Given the description of an element on the screen output the (x, y) to click on. 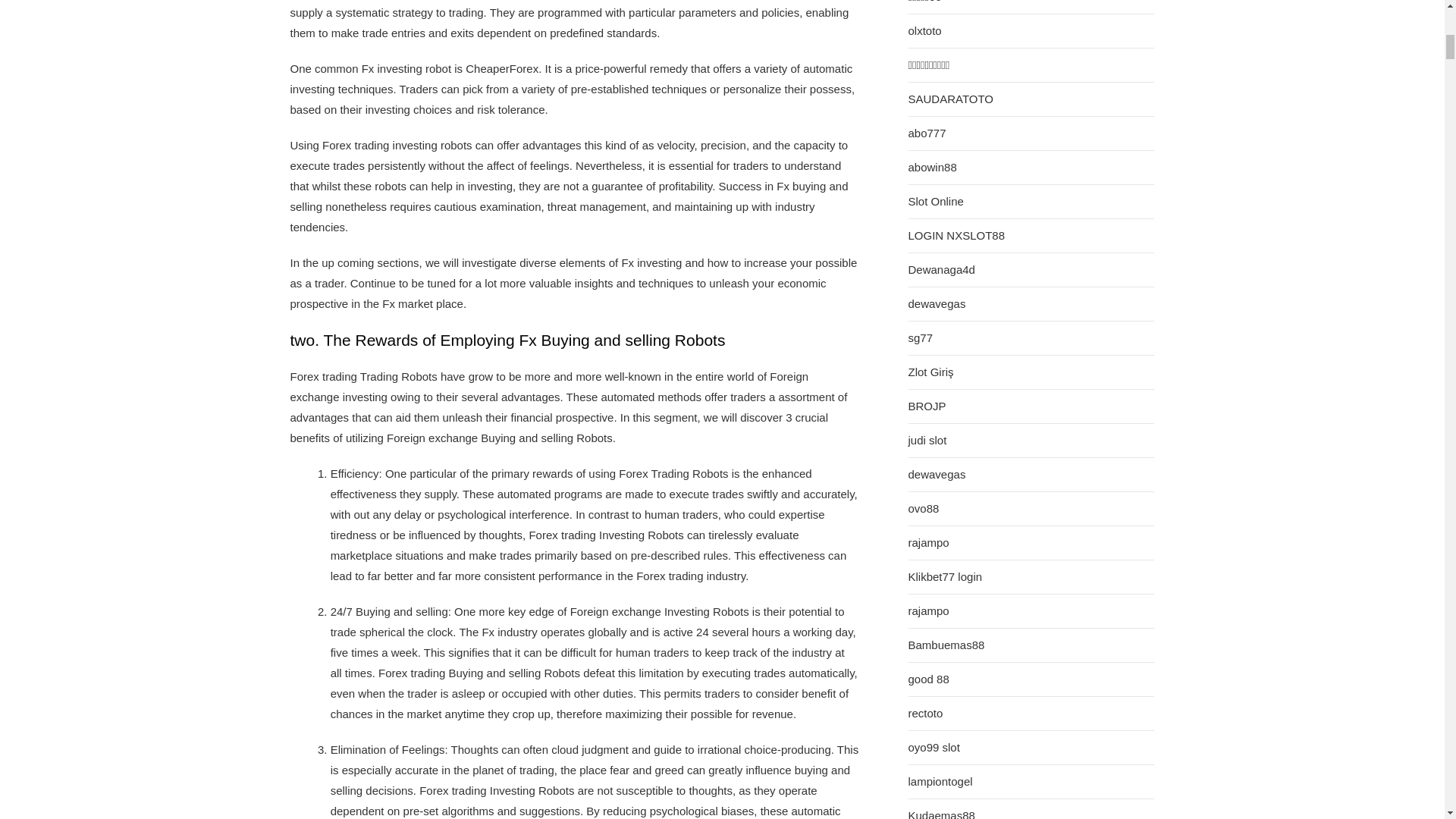
BROJP (927, 406)
ovo88 (923, 508)
dewavegas (937, 303)
LOGIN NXSLOT88 (957, 235)
Dewanaga4d (941, 269)
abowin88 (932, 166)
judi slot (927, 439)
sg77 (920, 337)
dewavegas (937, 474)
olxtoto (925, 30)
abo777 (927, 132)
Slot Online (935, 201)
SAUDARATOTO (951, 98)
